Given the description of an element on the screen output the (x, y) to click on. 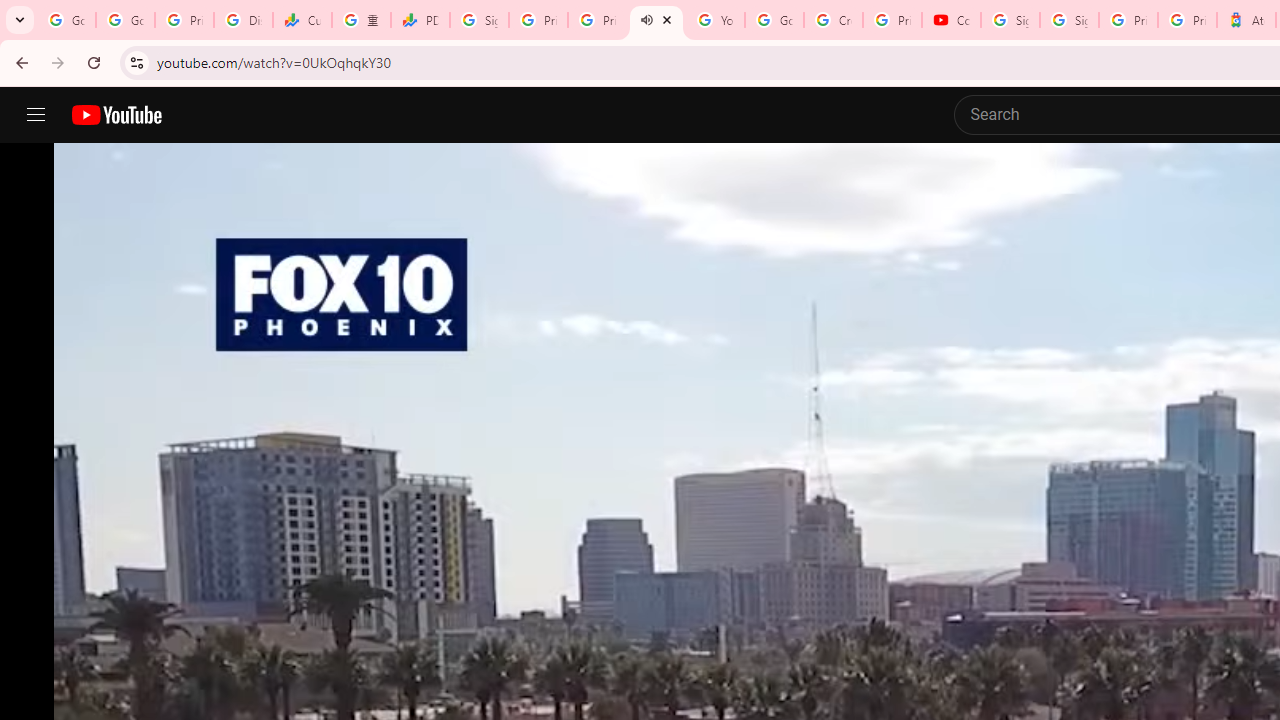
Guide (35, 115)
Sign in - Google Accounts (479, 20)
Google Account Help (774, 20)
Currencies - Google Finance (301, 20)
Content Creator Programs & Opportunities - YouTube Creators (950, 20)
Sign in - Google Accounts (1010, 20)
